Given the description of an element on the screen output the (x, y) to click on. 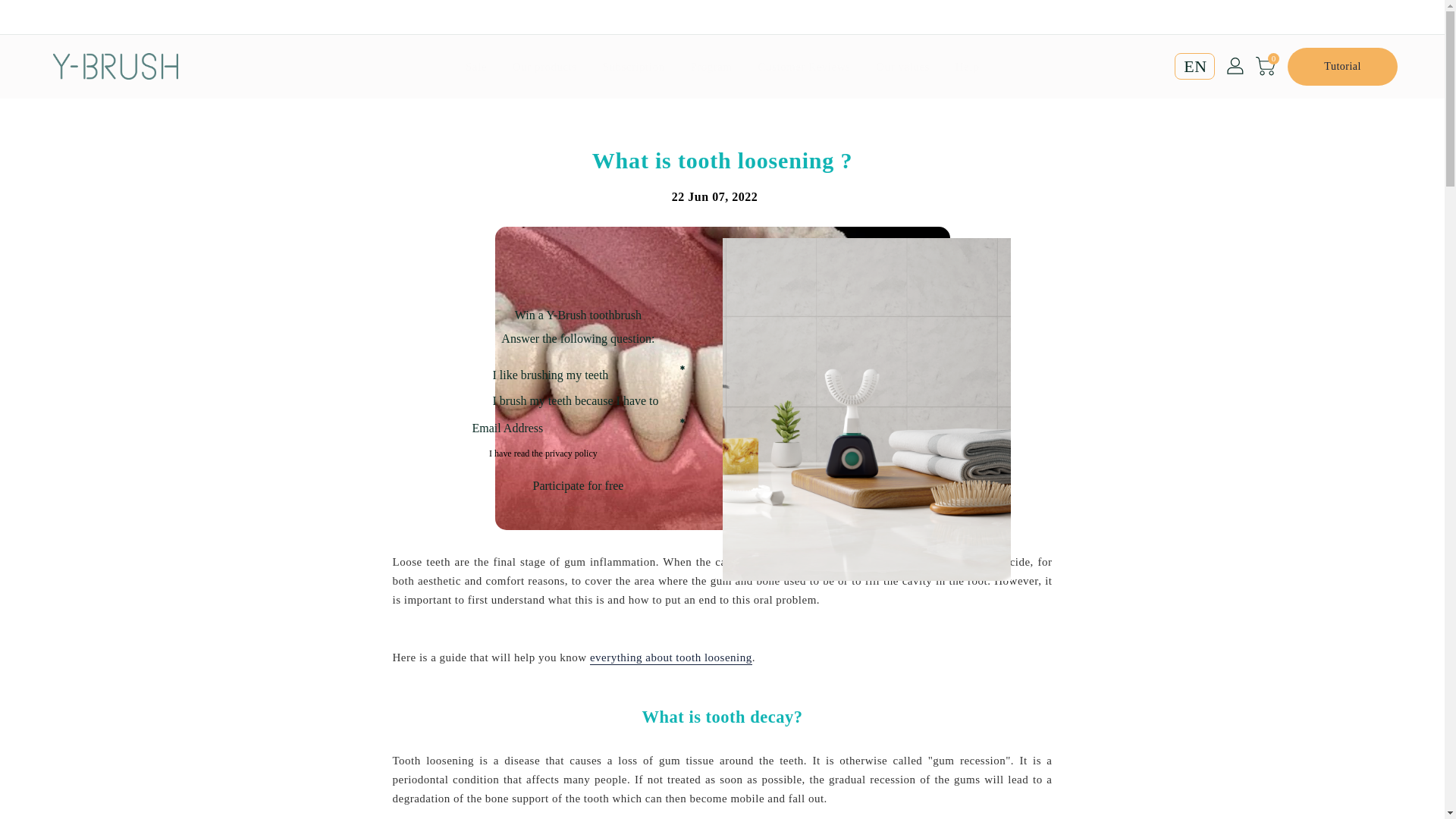
Program (710, 66)
Sale (475, 66)
Our products (544, 66)
Subscription (634, 66)
